Given the description of an element on the screen output the (x, y) to click on. 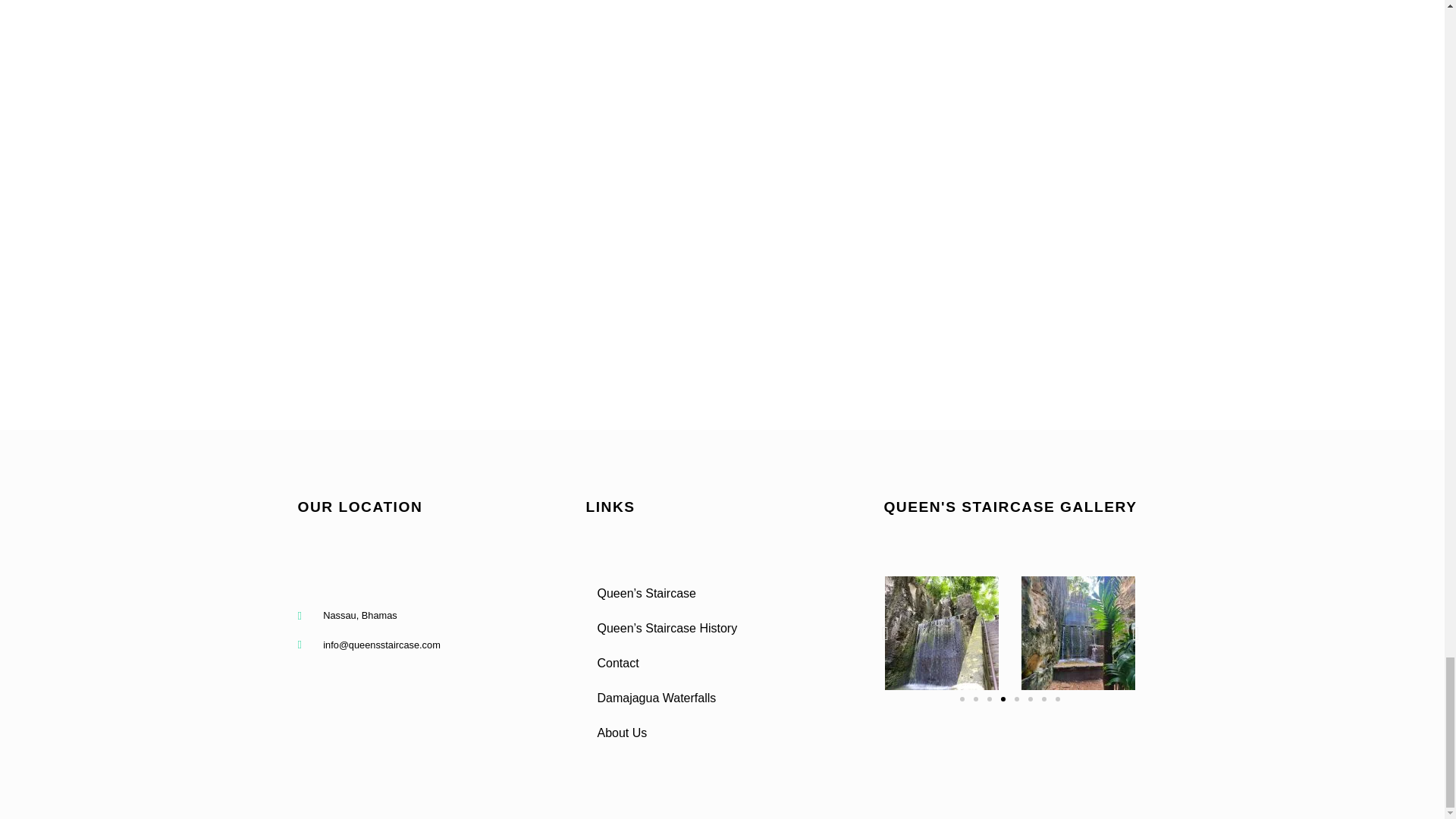
Contact (722, 663)
Damajagua Waterfalls (722, 697)
About Us (722, 733)
